Given the description of an element on the screen output the (x, y) to click on. 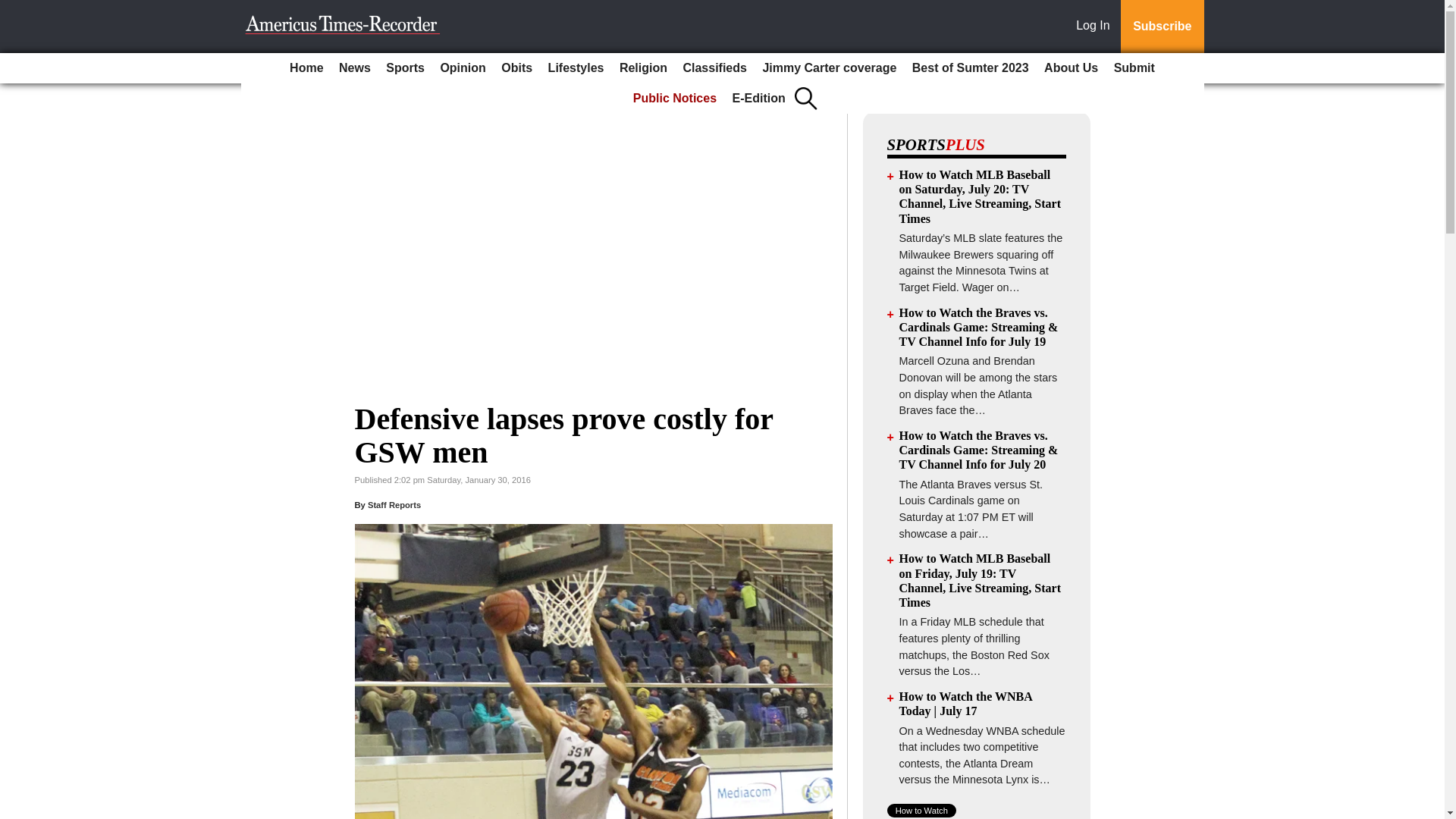
Log In (1095, 26)
Sports (405, 68)
Lifestyles (575, 68)
News (355, 68)
E-Edition (759, 98)
Public Notices (674, 98)
Obits (516, 68)
Opinion (462, 68)
Submit (1134, 68)
Jimmy Carter coverage (828, 68)
Classifieds (714, 68)
Religion (642, 68)
Subscribe (1162, 26)
Best of Sumter 2023 (970, 68)
